Given the description of an element on the screen output the (x, y) to click on. 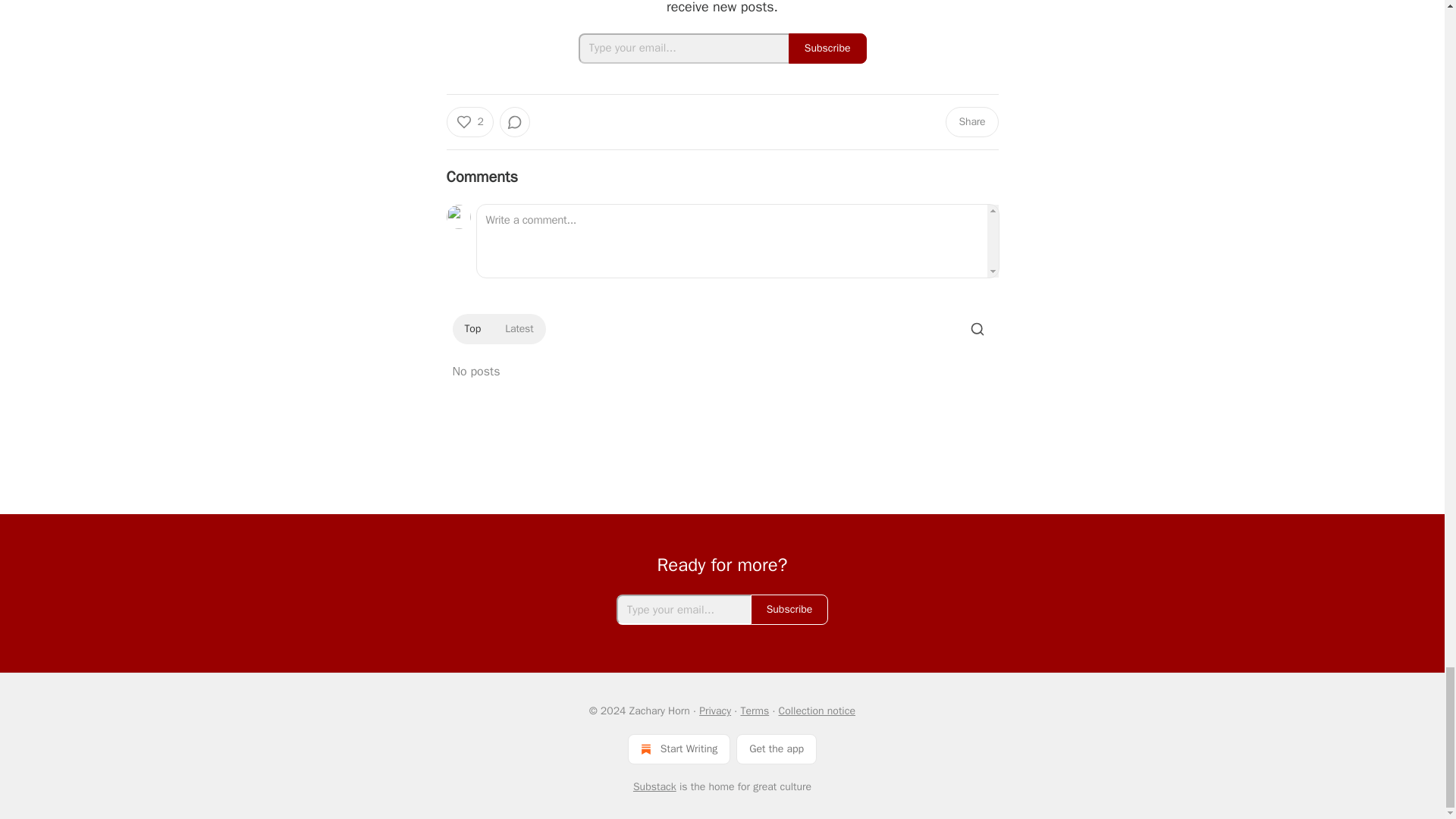
Subscribe (827, 48)
2 (469, 122)
